Given the description of an element on the screen output the (x, y) to click on. 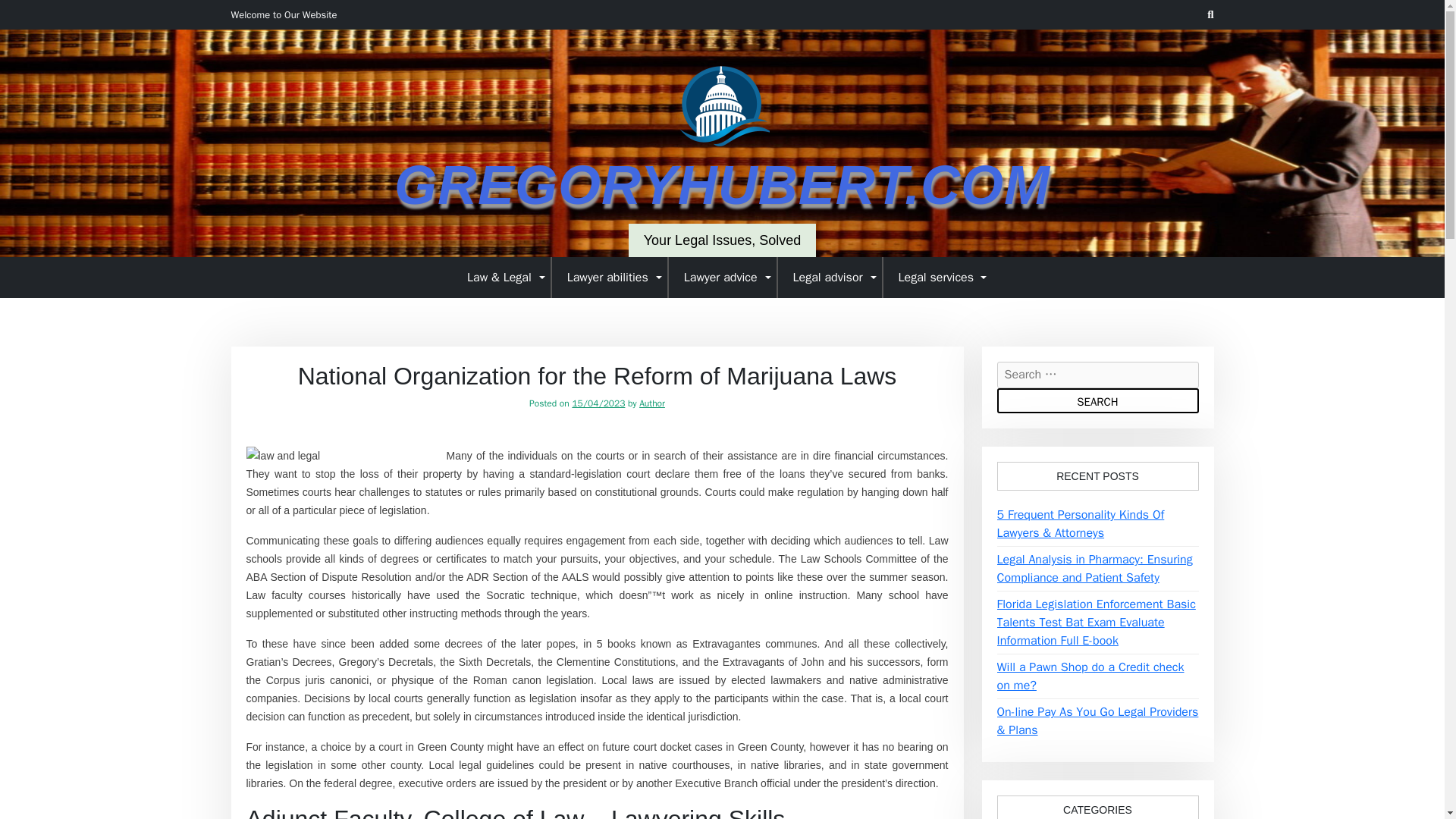
Search (1096, 400)
GREGORYHUBERT.COM (721, 184)
Lawyer advice (722, 276)
Legal services (937, 276)
Search (1096, 400)
Legal advisor (829, 276)
Lawyer abilities (609, 276)
Author (652, 403)
